Given the description of an element on the screen output the (x, y) to click on. 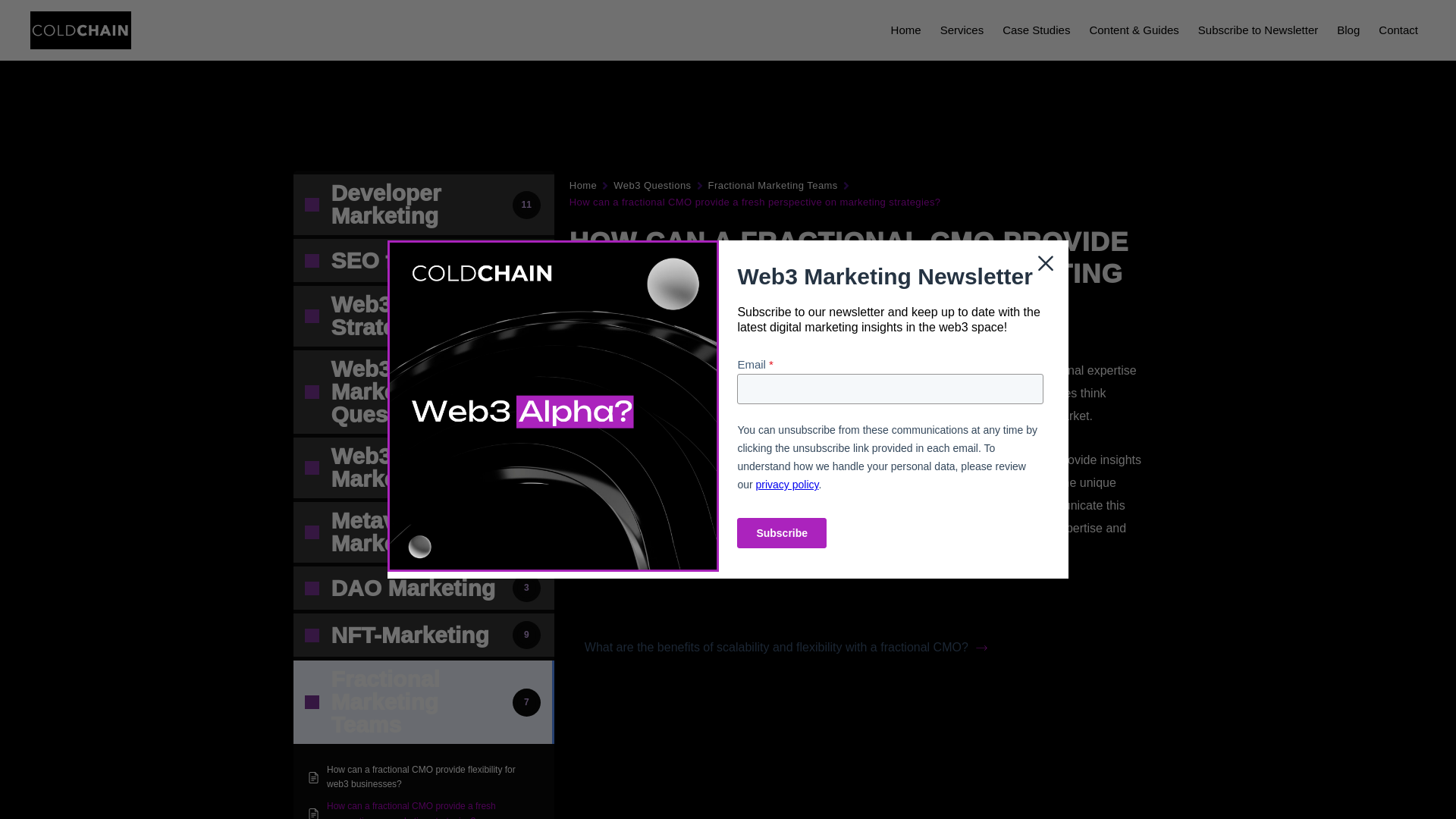
Subscribe to Newsletter (1257, 29)
Contact (1398, 29)
Case Studies (1035, 29)
Services (962, 29)
Home (905, 29)
Home (582, 185)
Fractional Marketing Teams (772, 185)
Fractional Marketing Teams (615, 369)
Blog (1348, 29)
Web3 Questions (651, 185)
